Given the description of an element on the screen output the (x, y) to click on. 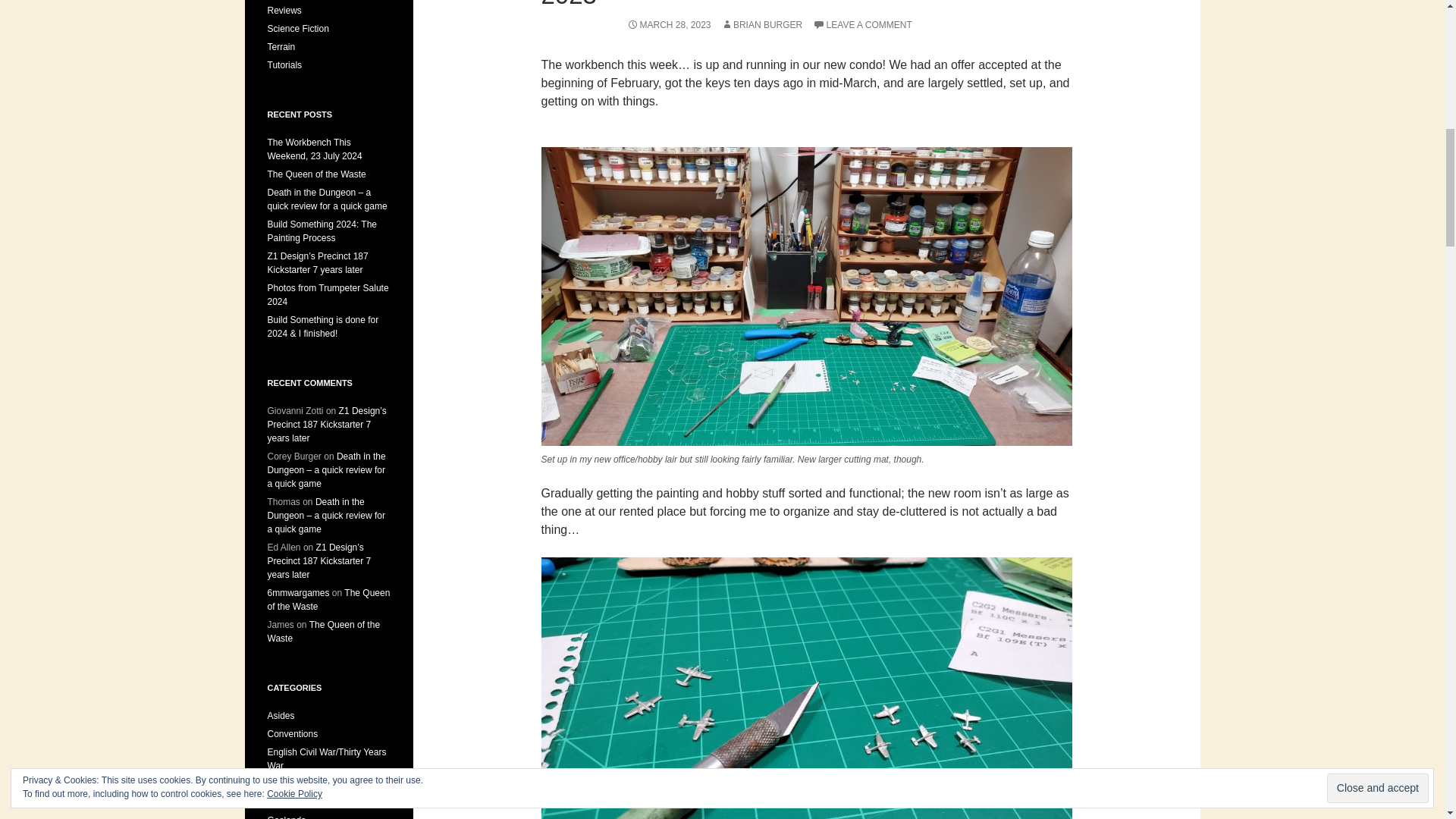
BRIAN BURGER (761, 24)
MARCH 28, 2023 (668, 24)
THE WORKBENCH THIS WEEK, 28 MARCH 2023 (794, 4)
LEAVE A COMMENT (862, 24)
